Given the description of an element on the screen output the (x, y) to click on. 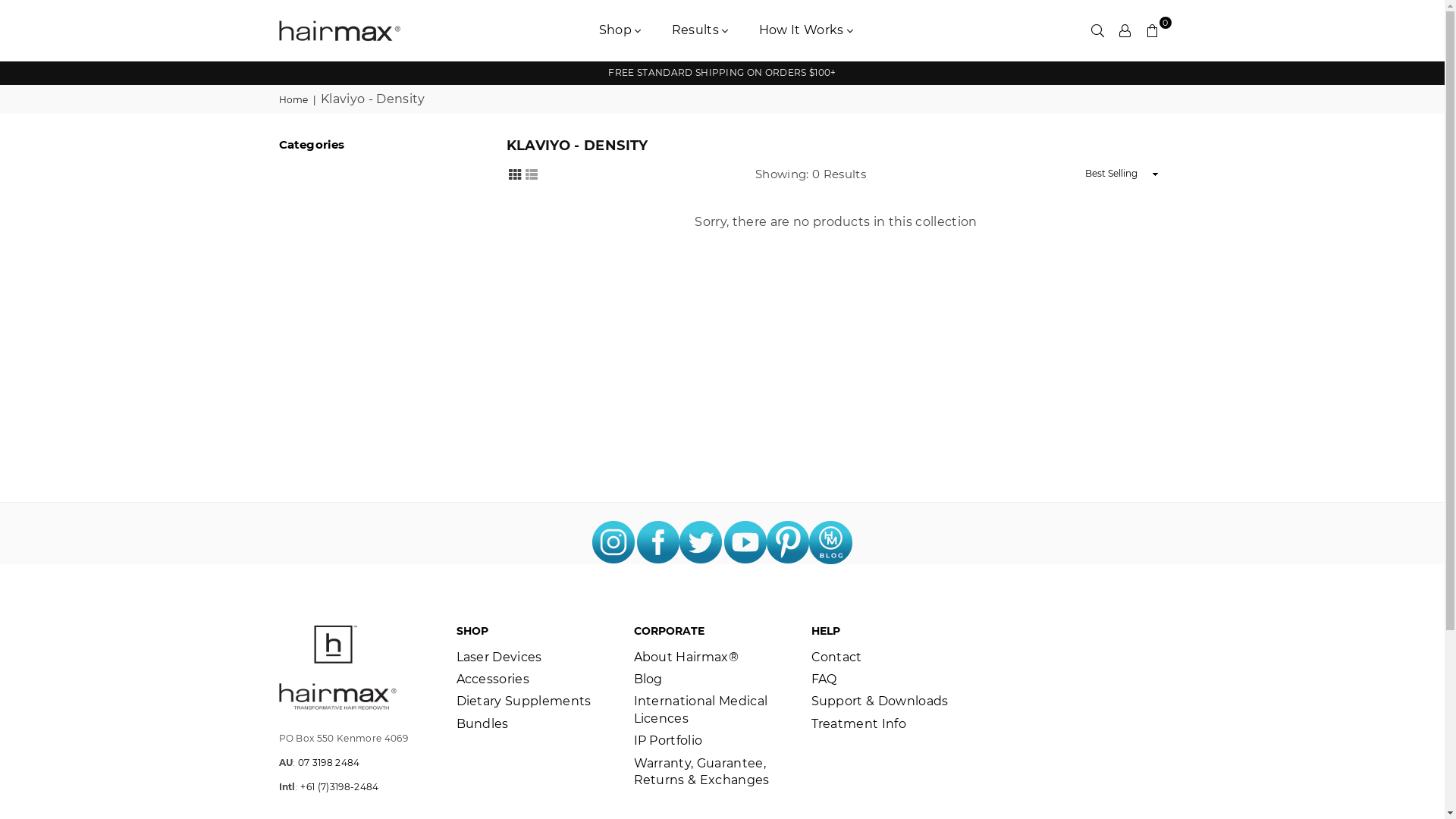
Search Element type: hover (1097, 29)
Support & Downloads Element type: text (879, 700)
0 Element type: text (1152, 29)
Results Element type: text (700, 30)
Shop Element type: text (619, 30)
International Medical Licences Element type: text (700, 708)
Home Element type: text (294, 100)
Settings Element type: hover (1125, 29)
Bundles Element type: text (482, 723)
Laser Devices Element type: text (499, 656)
Accessories Element type: text (493, 678)
+61 (7)3198-2484 Element type: text (339, 786)
07 3198 2484 Element type: text (329, 762)
Dietary Supplements Element type: text (523, 700)
Contact Element type: text (836, 656)
Warranty, Guarantee, Returns & Exchanges Element type: text (701, 771)
FREE STANDARD SHIPPING ON ORDERS $100+ Element type: text (721, 72)
List View Element type: hover (531, 172)
Blog Element type: text (647, 678)
Grid View Element type: hover (514, 172)
How It Works Element type: text (806, 30)
HAIRMAX AUSTRALIA Element type: text (351, 30)
Treatment Info Element type: text (858, 723)
FAQ Element type: text (824, 678)
IP Portfolio Element type: text (667, 740)
